Given the description of an element on the screen output the (x, y) to click on. 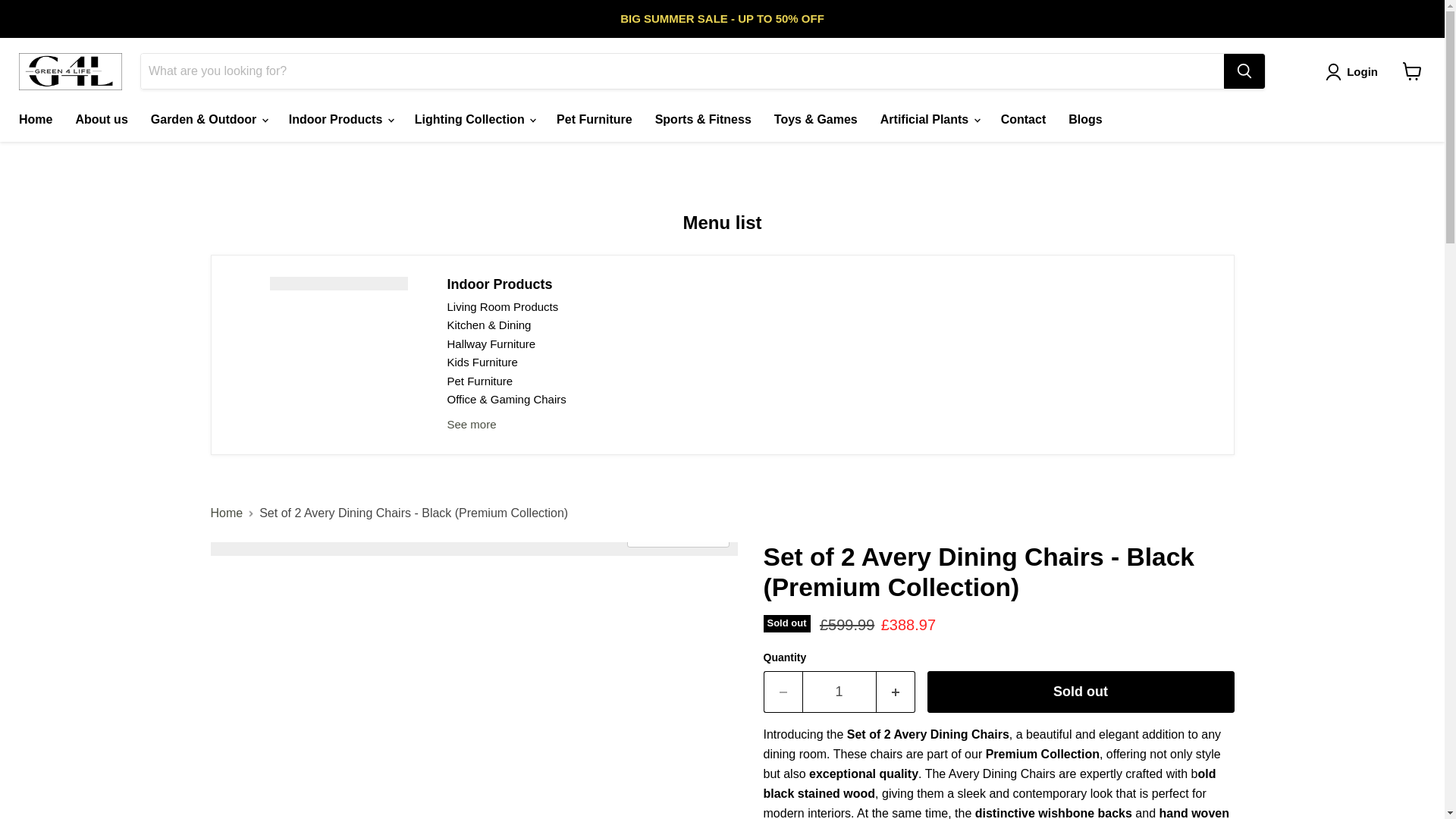
View cart (1411, 70)
Login (1354, 71)
About us (101, 119)
Home (35, 119)
1 (839, 691)
